Given the description of an element on the screen output the (x, y) to click on. 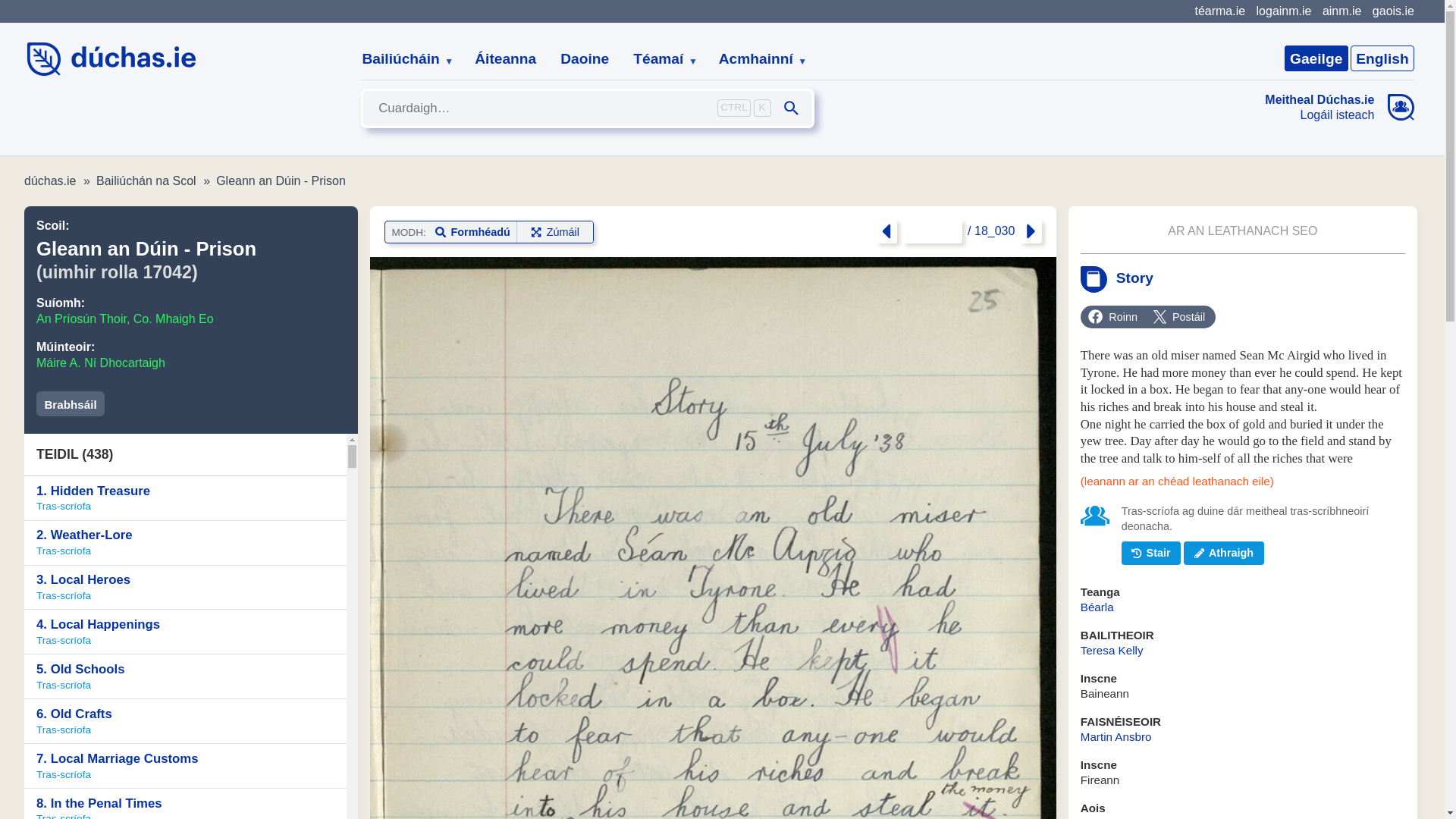
gaois.ie (1393, 11)
Gaeilge (1316, 58)
Daoine (584, 58)
ainm.ie (1341, 11)
logainm.ie (1283, 11)
English (1382, 58)
